Given the description of an element on the screen output the (x, y) to click on. 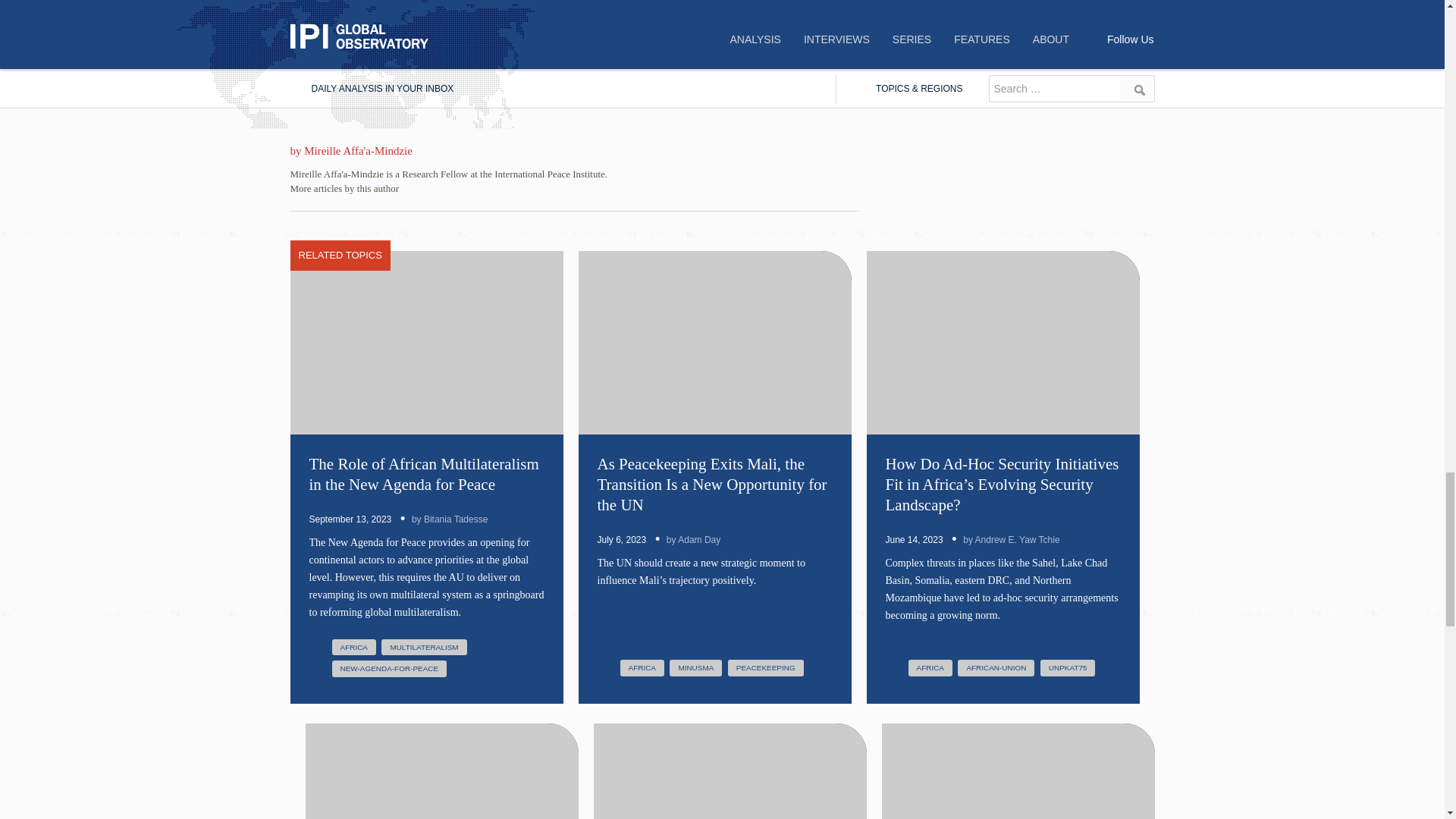
UN Peacekeeping at 75 (1068, 668)
New Agenda for Peace (388, 668)
